Given the description of an element on the screen output the (x, y) to click on. 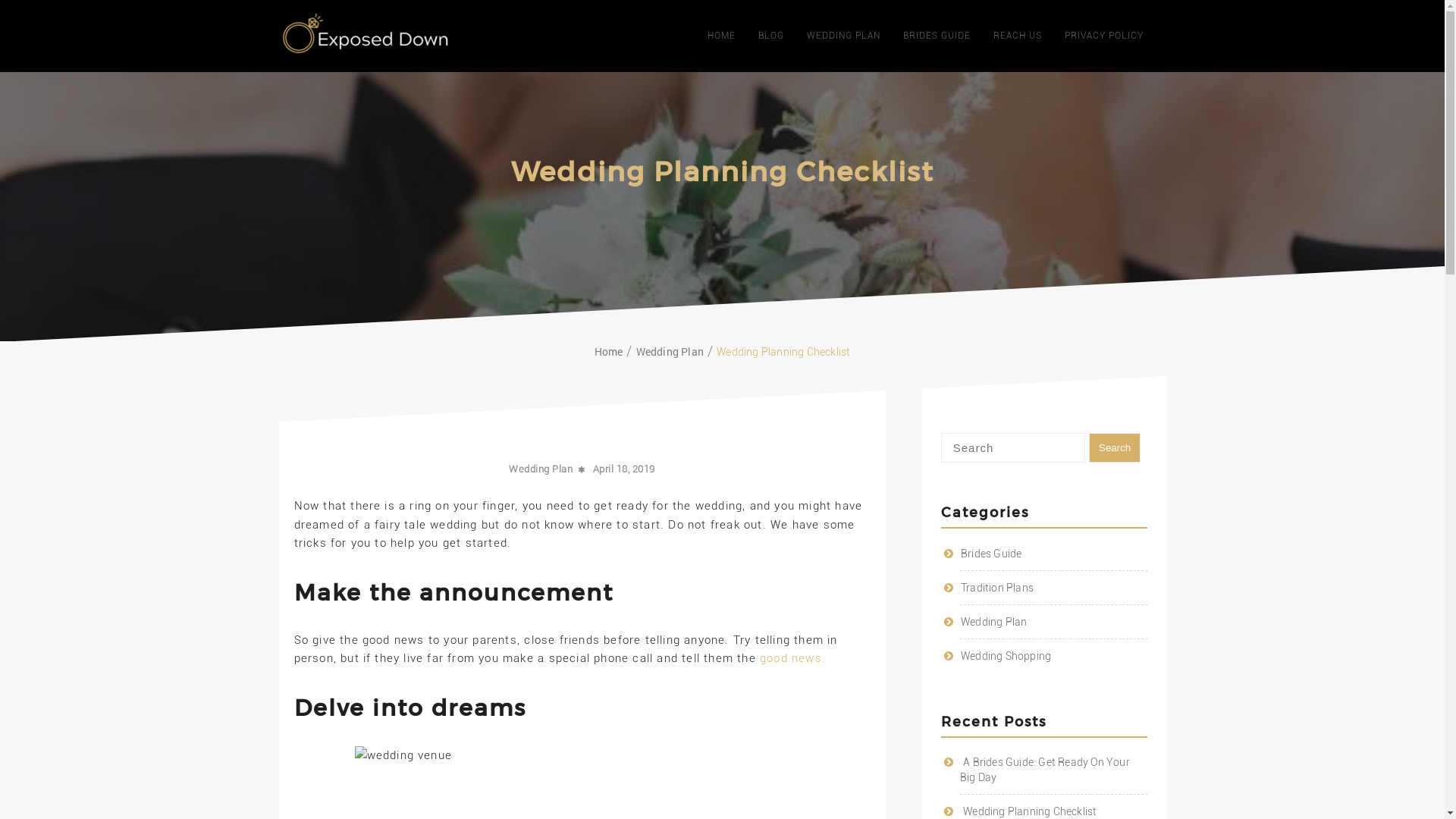
WEDDING PLAN Element type: text (843, 35)
Tradition Plans Element type: text (996, 587)
Brides Guide Element type: text (990, 553)
Home Element type: text (608, 351)
BLOG Element type: text (771, 35)
HOME Element type: text (720, 35)
Wedding Shopping Element type: text (1005, 655)
April 18, 2019 Element type: text (624, 468)
Wedding Plan Element type: text (993, 621)
Search Element type: text (1114, 447)
Wedding Plan Element type: text (540, 468)
PRIVACY POLICY Element type: text (1103, 35)
BRIDES GUIDE Element type: text (935, 35)
Wedding Planning Checklist Element type: text (1029, 811)
REACH US Element type: text (1017, 35)
good news. Element type: text (792, 658)
Wedding Plan Element type: text (669, 351)
A Brides Guide: Get Ready On Your Big Day Element type: text (1044, 769)
